Given the description of an element on the screen output the (x, y) to click on. 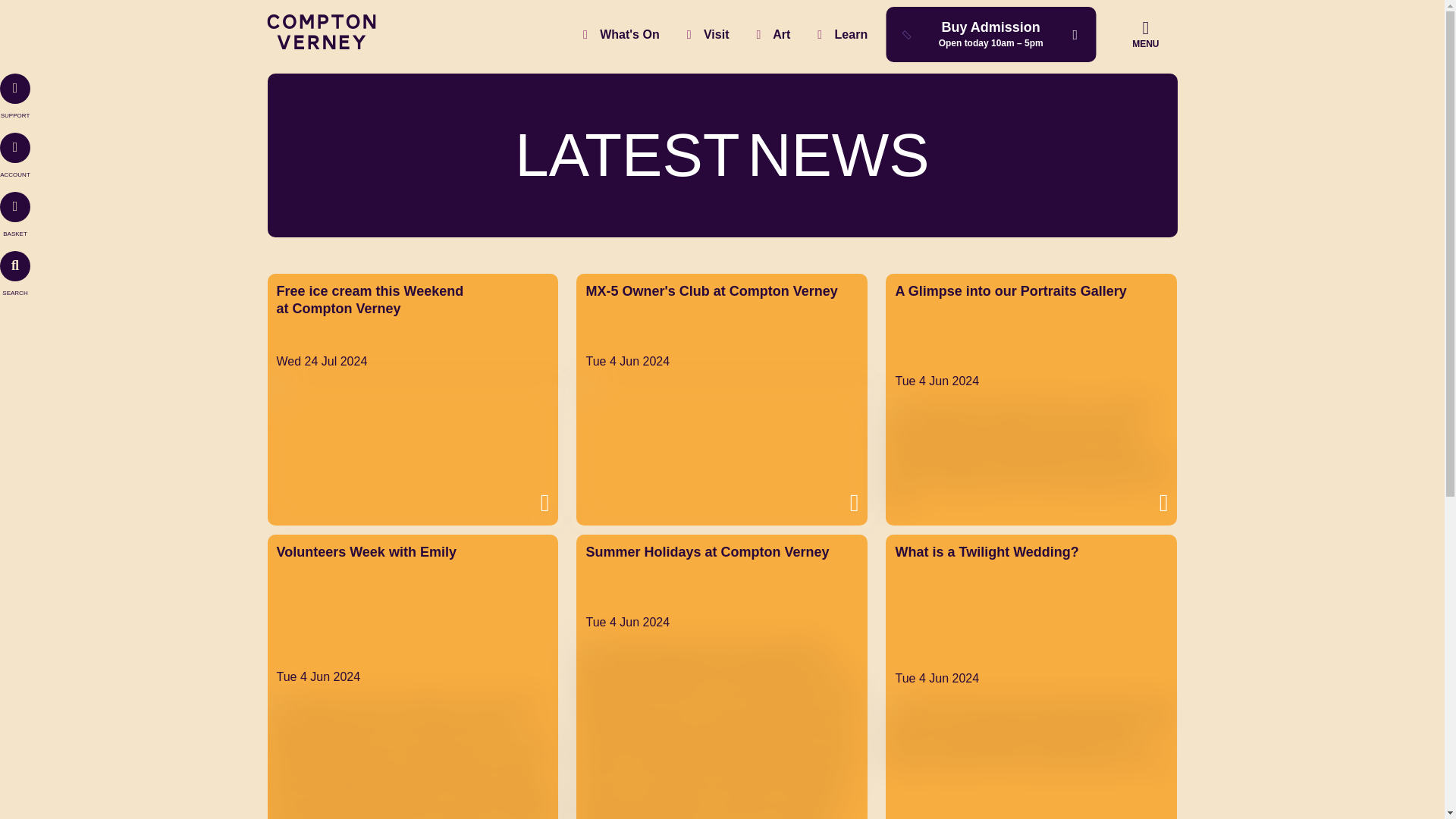
Visit (708, 33)
News post link (411, 676)
News post link (1030, 399)
1-scaled-aspect-ratio-2-1 (720, 451)
News post link (721, 676)
Compton Verney (320, 44)
News post link (721, 399)
Art (772, 33)
Compton Verney - Home (320, 44)
News post link (411, 399)
HattieMax-877-scaled-aspect-ratio-2-1 (1030, 732)
Learn (841, 33)
MENU (1144, 33)
Ringworld-scaled-aspect-ratio-2-1 (411, 451)
What's On (621, 33)
